Given the description of an element on the screen output the (x, y) to click on. 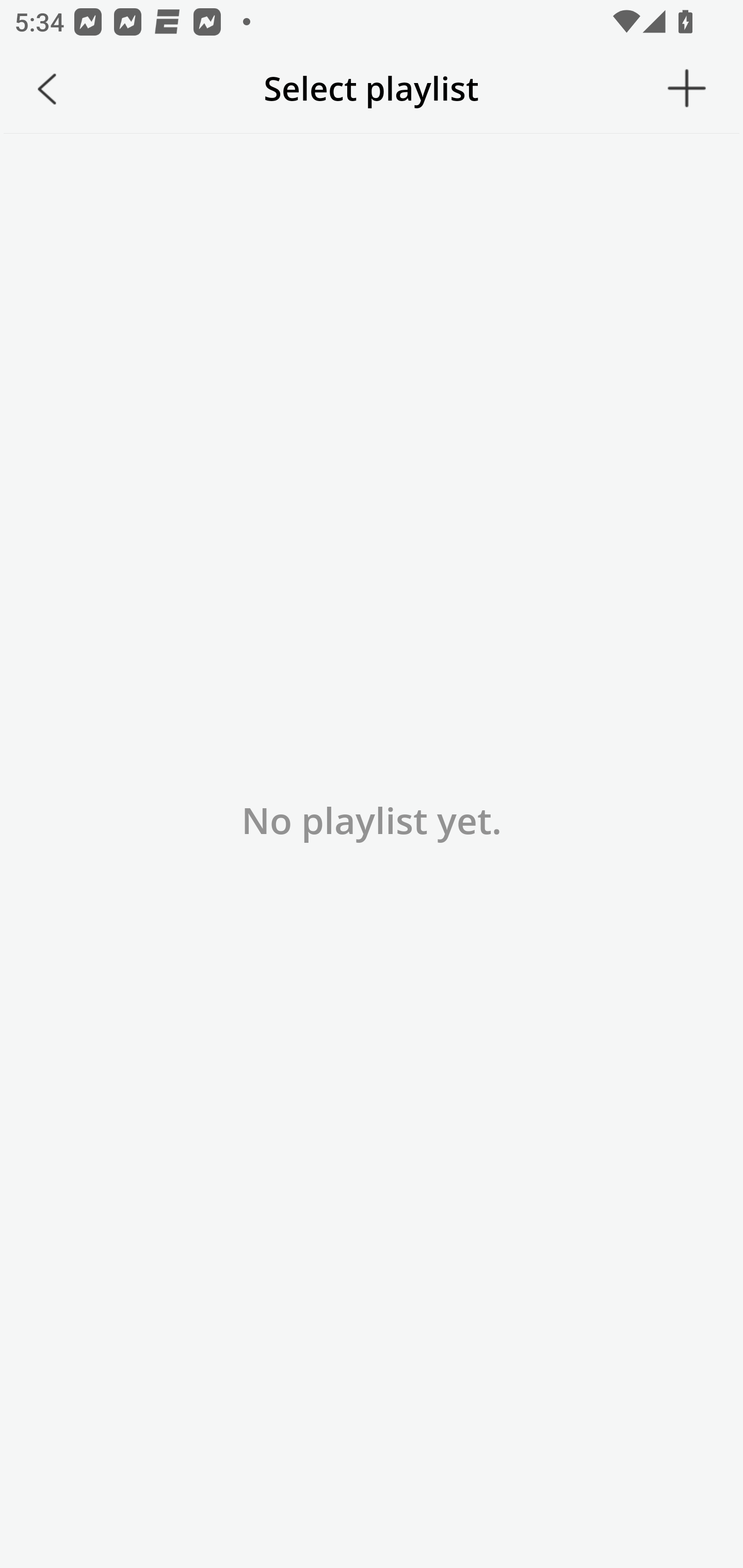
Back (46, 88)
